Given the description of an element on the screen output the (x, y) to click on. 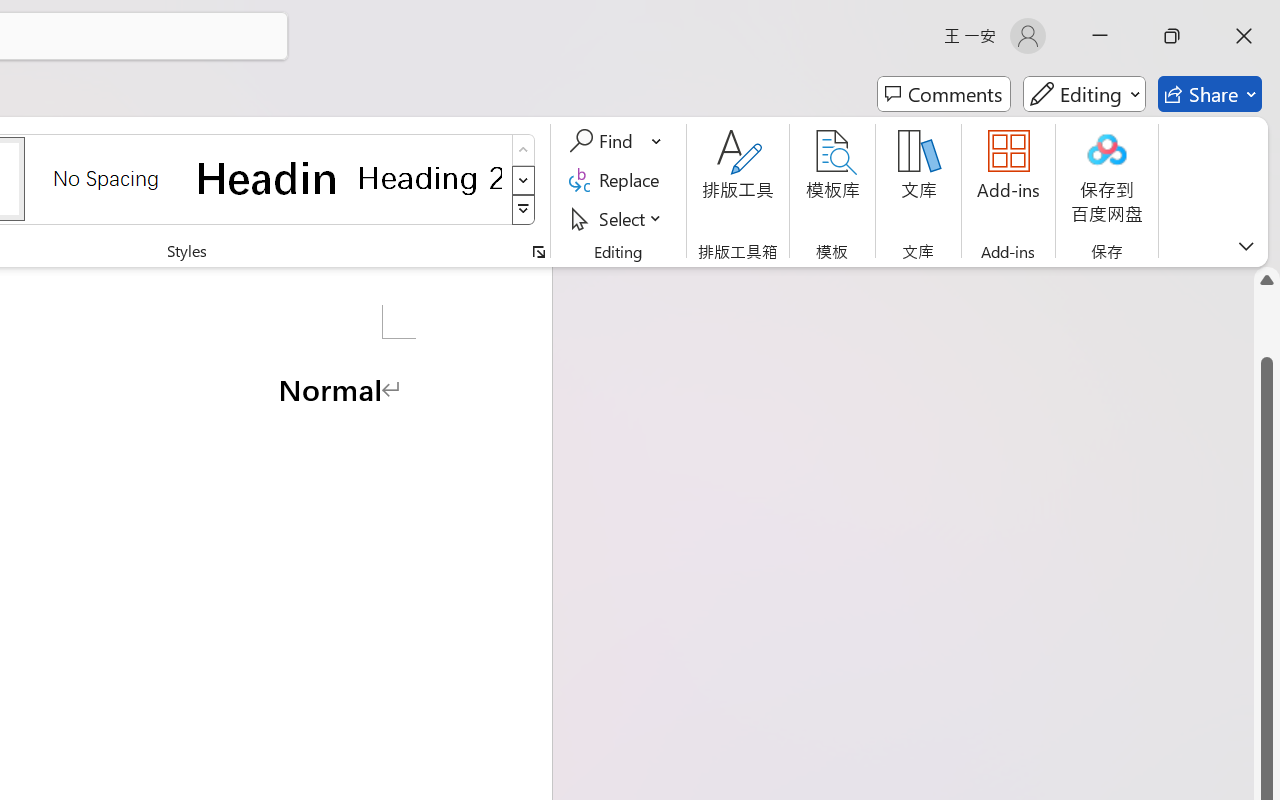
Styles... (538, 252)
Select (618, 218)
Page up (1267, 324)
Row Down (523, 180)
Line up (1267, 279)
